Given the description of an element on the screen output the (x, y) to click on. 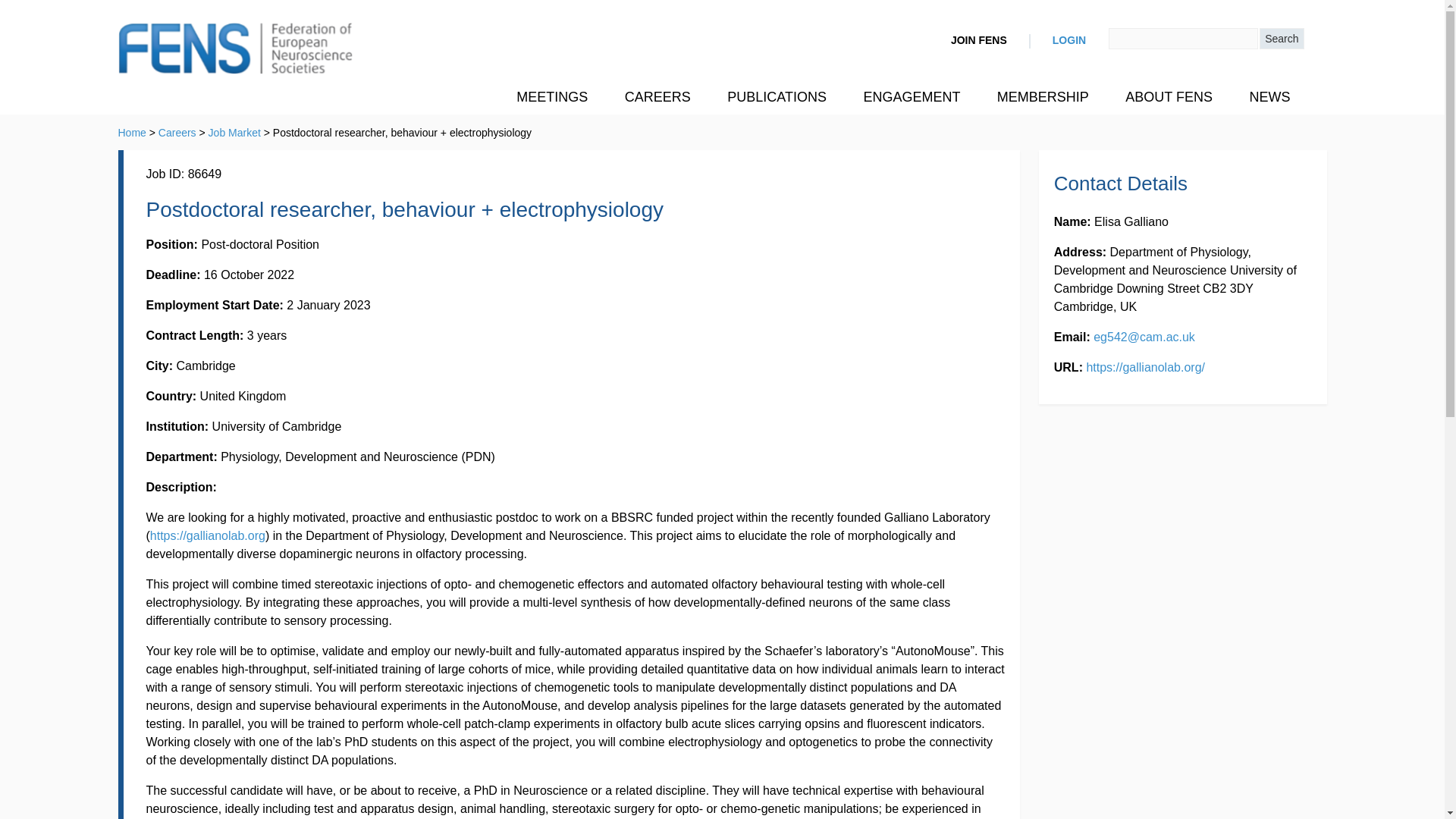
Search (1281, 38)
Go to Job Market. (234, 132)
Federation of European Neuroscience Societies (234, 49)
PUBLICATIONS (776, 97)
JOIN FENS (978, 41)
Go to Federation of European Neuroscience Societies. (132, 132)
Search (1281, 38)
Go to Careers. (177, 132)
Federation of European Neuroscience Societies (234, 49)
MEETINGS (551, 97)
LOGIN (1069, 41)
CAREERS (657, 97)
